Given the description of an element on the screen output the (x, y) to click on. 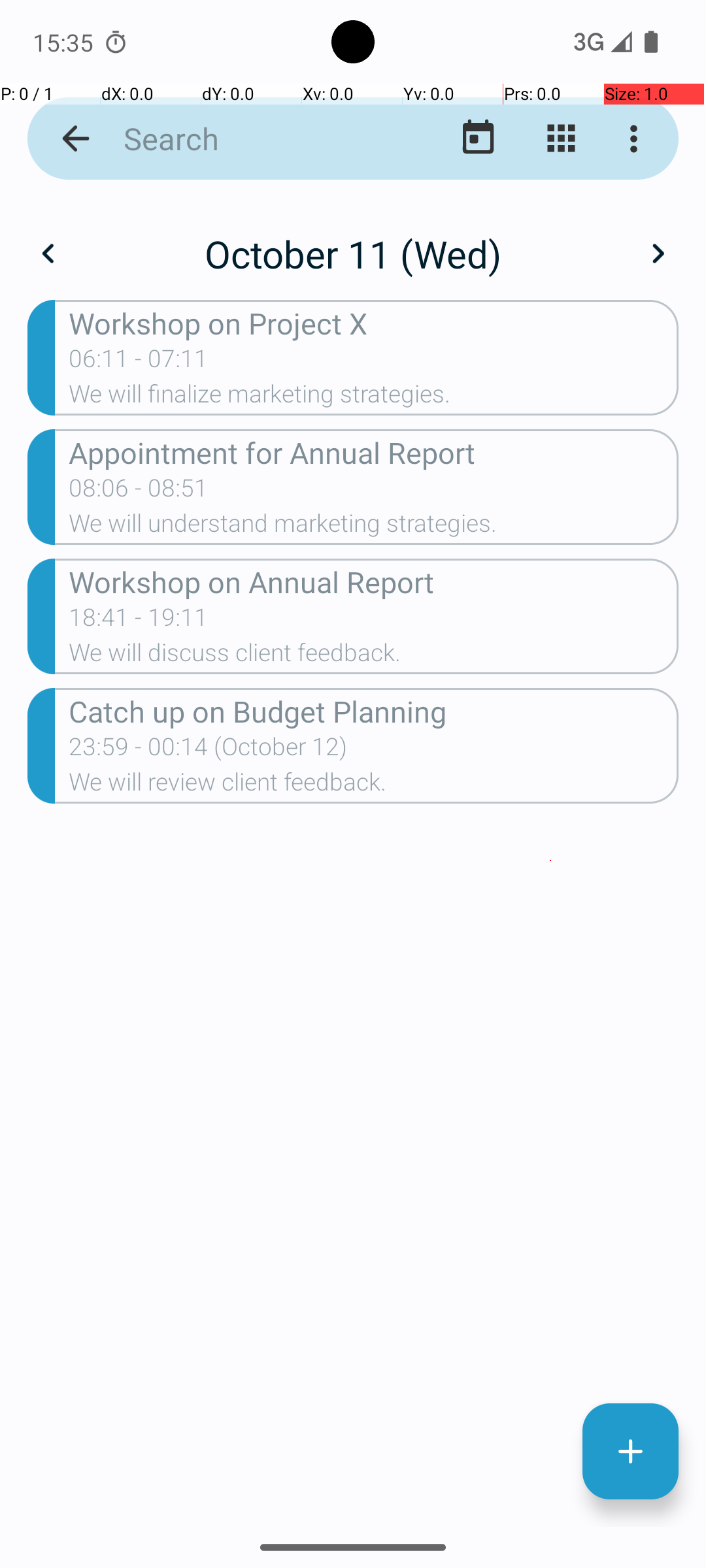
October 11 (Wed) Element type: android.widget.TextView (352, 253)
06:11 - 07:11 Element type: android.widget.TextView (137, 362)
We will finalize marketing strategies. Element type: android.widget.TextView (373, 397)
08:06 - 08:51 Element type: android.widget.TextView (137, 491)
We will understand marketing strategies. Element type: android.widget.TextView (373, 526)
18:41 - 19:11 Element type: android.widget.TextView (137, 620)
We will discuss client feedback. Element type: android.widget.TextView (373, 656)
23:59 - 00:14 (October 12) Element type: android.widget.TextView (207, 750)
We will review client feedback. Element type: android.widget.TextView (373, 785)
